Given the description of an element on the screen output the (x, y) to click on. 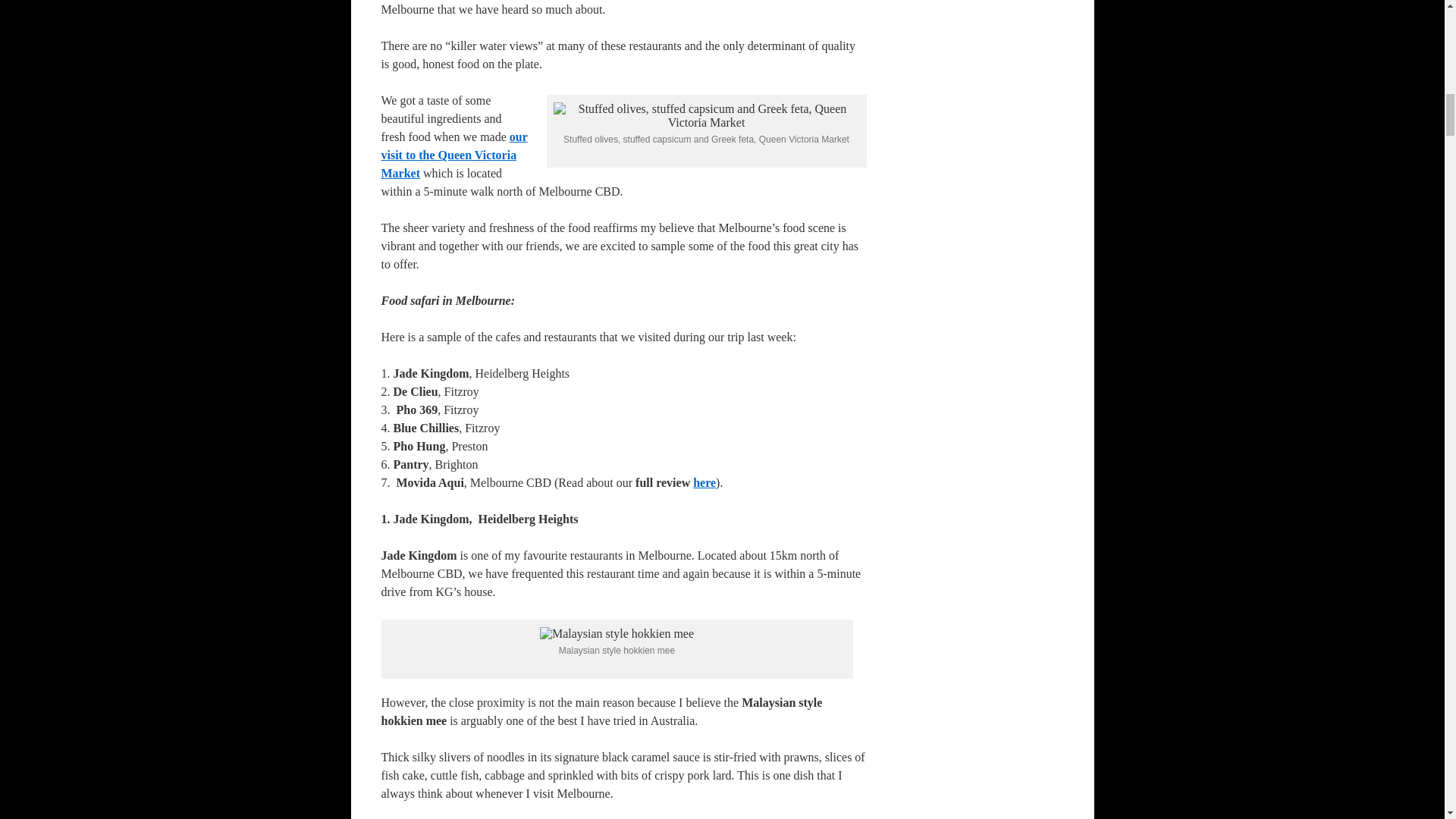
Malaysian style hokkien mee (617, 633)
here (704, 481)
our visit to the Queen Victoria Market (453, 154)
